Given the description of an element on the screen output the (x, y) to click on. 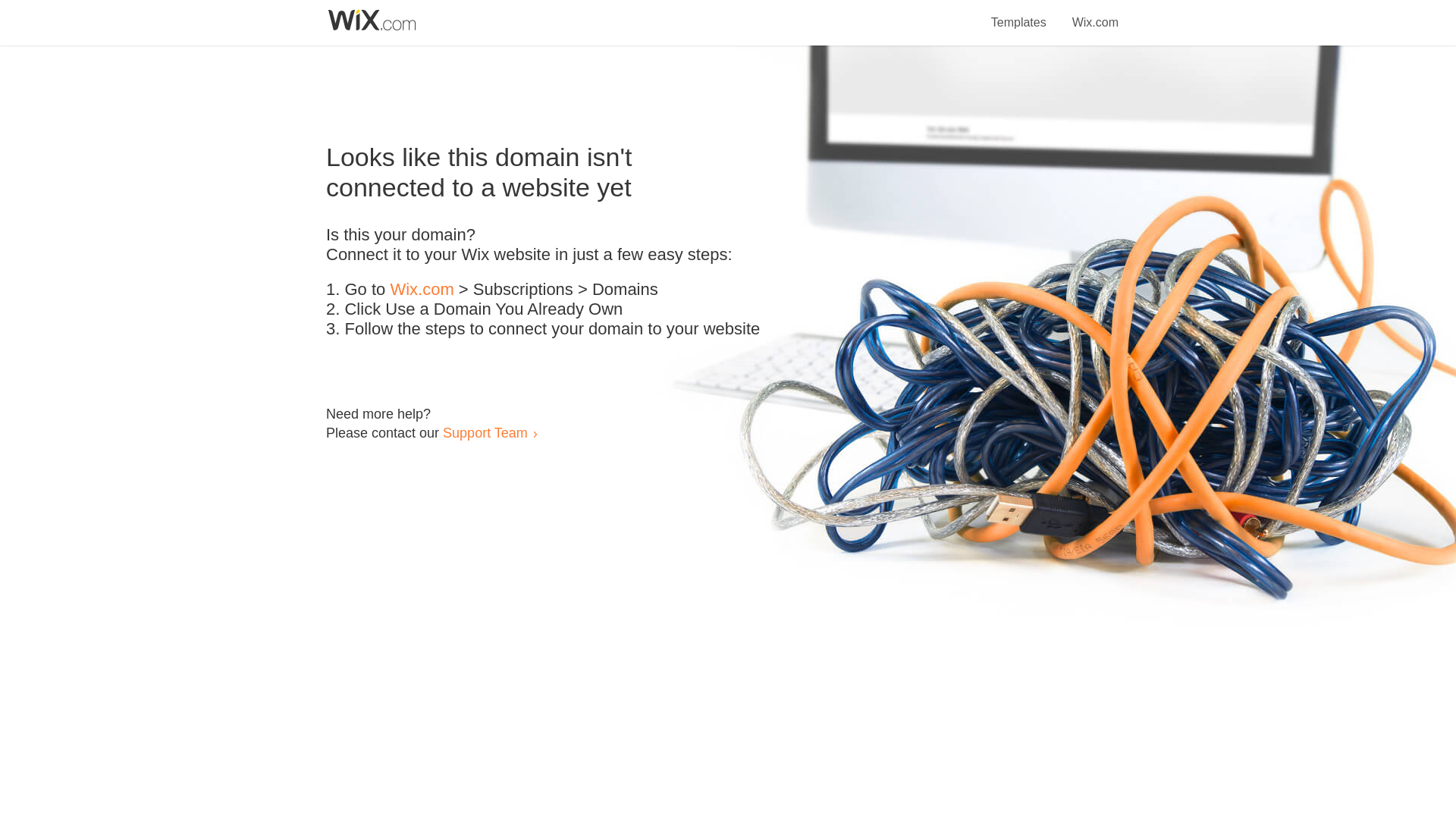
Wix.com (1095, 14)
Wix.com (421, 289)
Templates (1018, 14)
Support Team (484, 432)
